Given the description of an element on the screen output the (x, y) to click on. 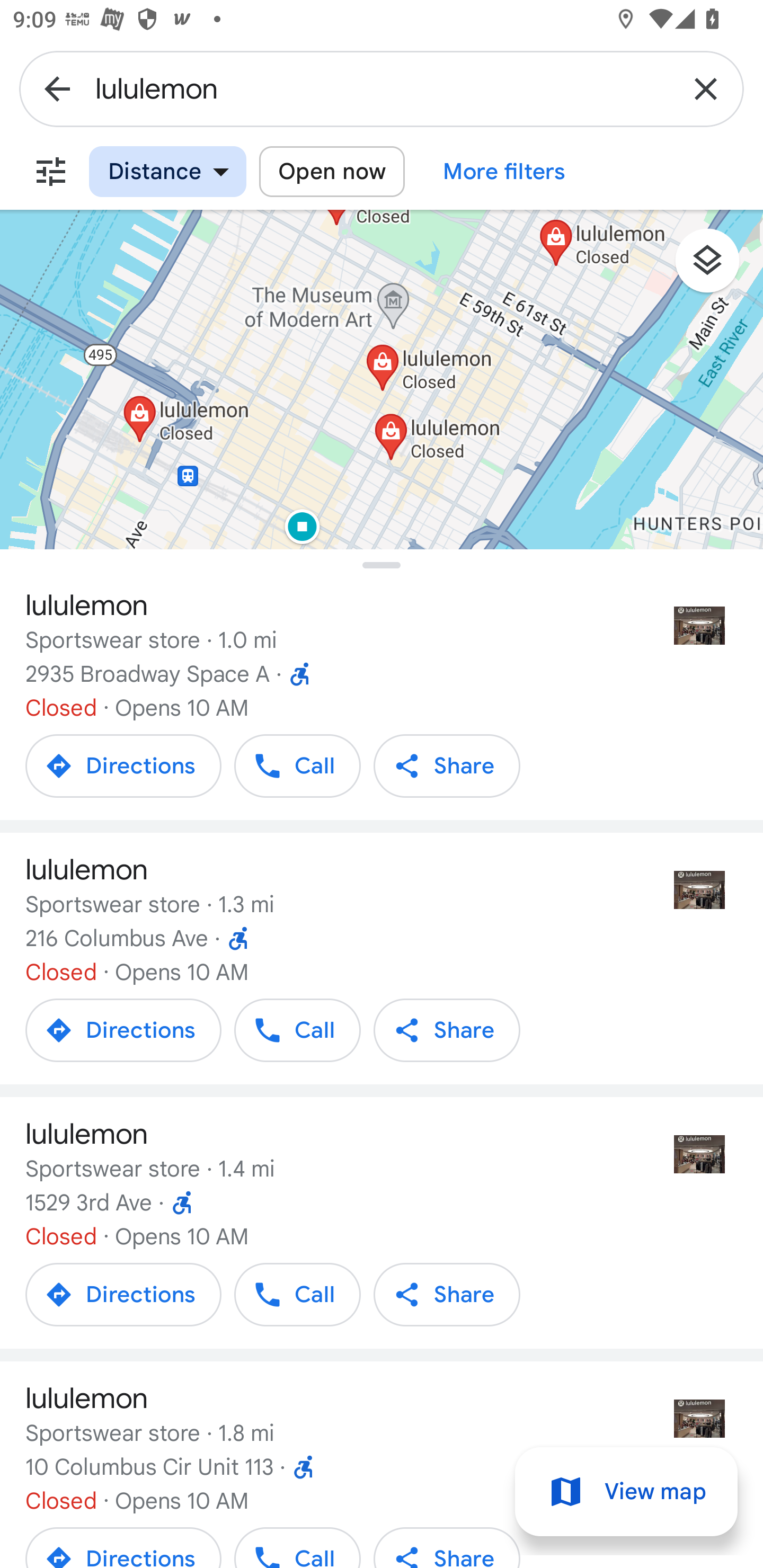
Back (57, 88)
lululemon (381, 88)
Clear (705, 88)
More filters (50, 171)
Distance Distance Distance (167, 171)
Open now Open now Open now (332, 171)
More filters More filters More filters (504, 171)
Layers (716, 267)
Re-center map to your location (702, 604)
Share lululemon Share Share lululemon (446, 765)
Share lululemon Share Share lululemon (446, 1029)
Share lululemon Share Share lululemon (446, 1293)
View map Map view (626, 1491)
Share lululemon Share Share lululemon (446, 1544)
